Given the description of an element on the screen output the (x, y) to click on. 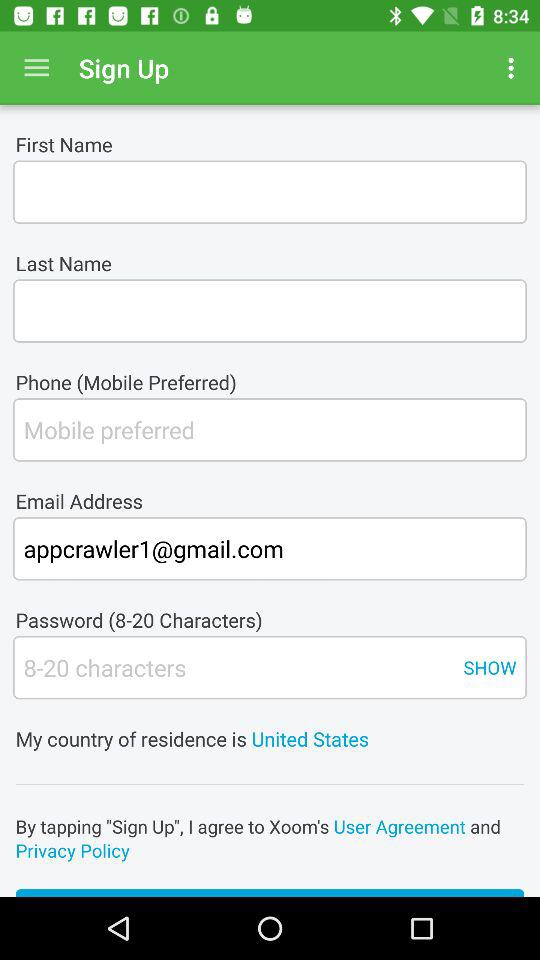
press item below the email address icon (269, 548)
